Given the description of an element on the screen output the (x, y) to click on. 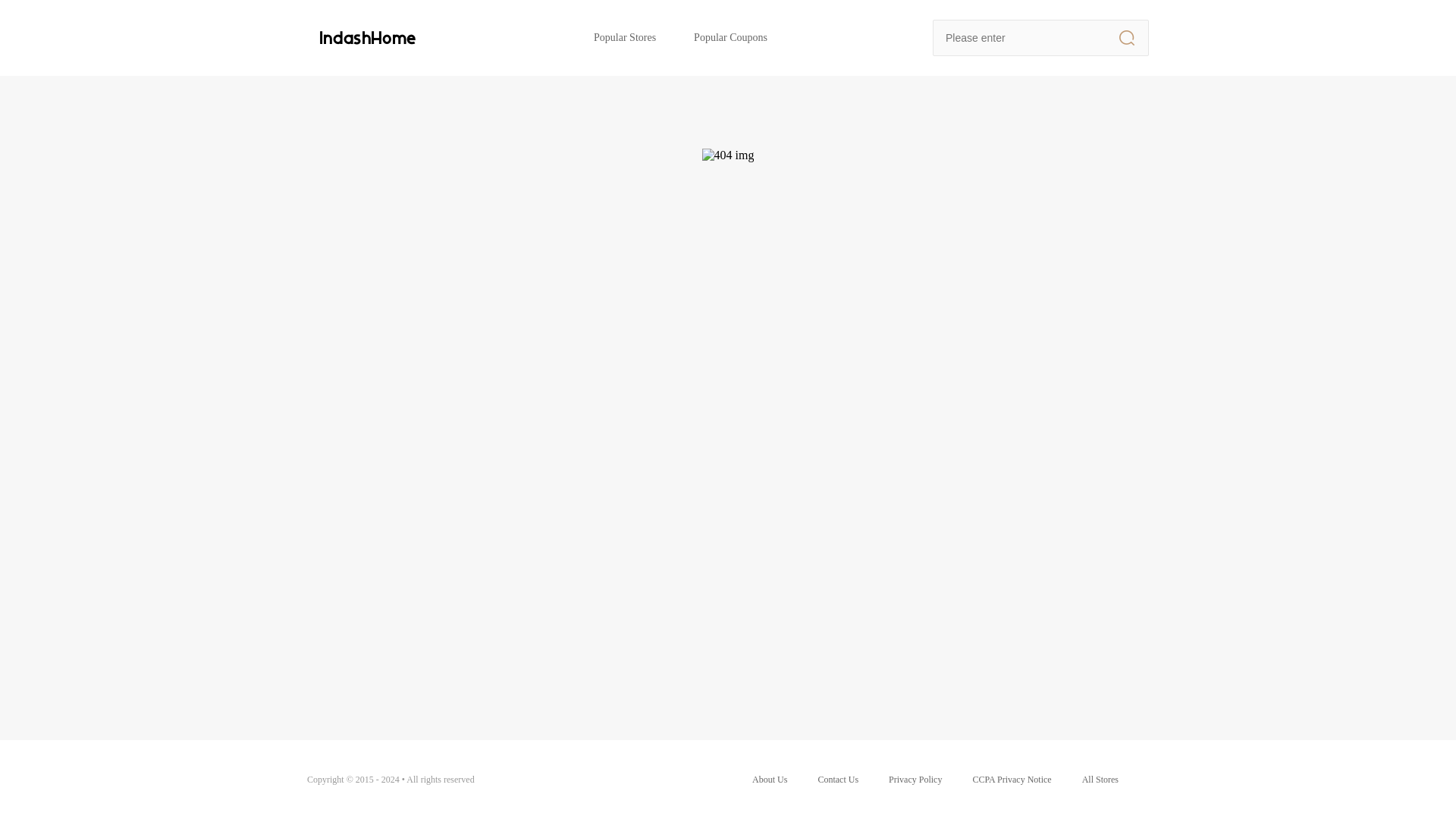
Privacy Policy (915, 779)
About Us (769, 779)
All Stores (1099, 779)
Contact Us (837, 779)
CCPA Privacy Notice (1011, 779)
